Given the description of an element on the screen output the (x, y) to click on. 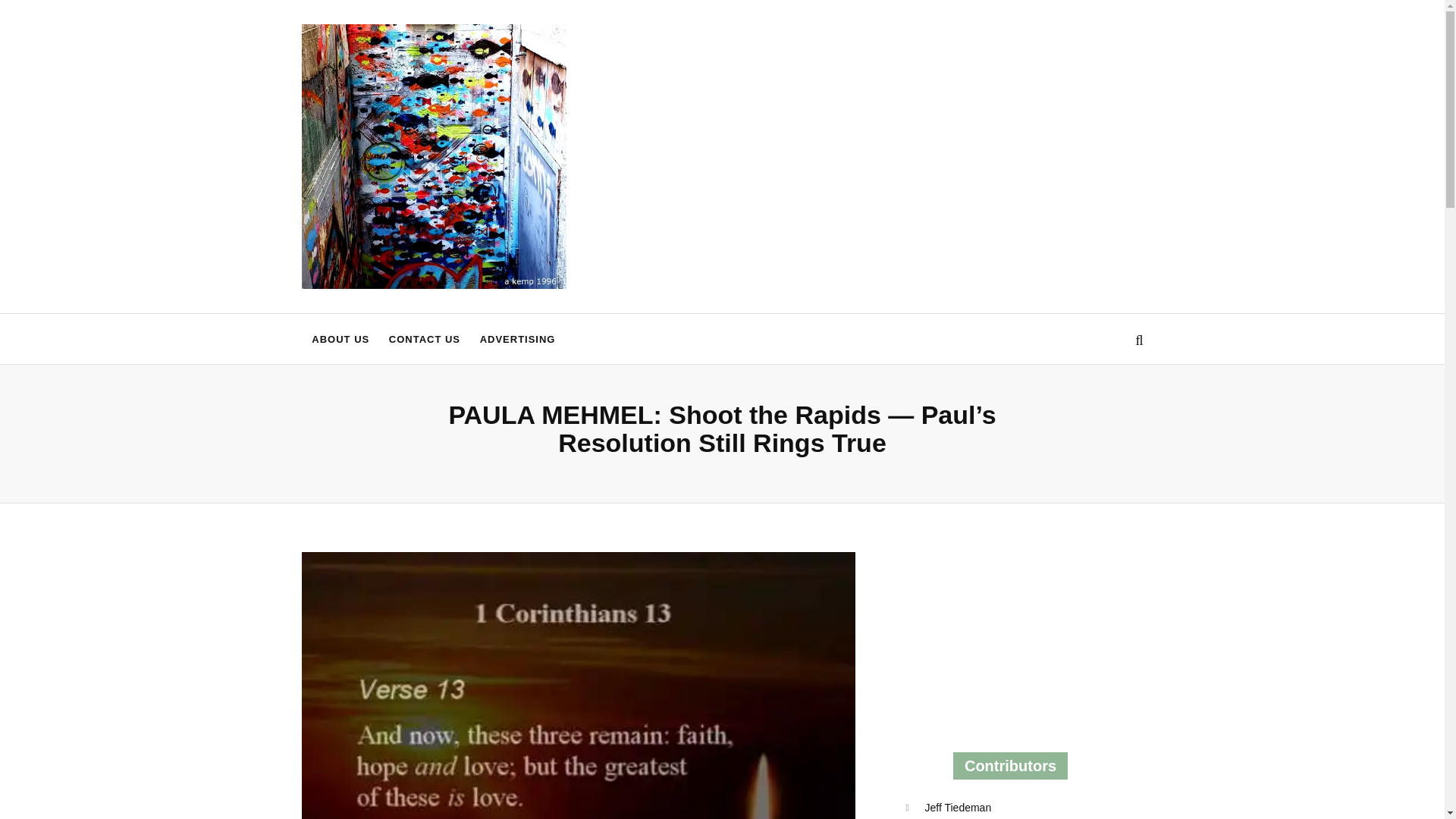
Advertising (517, 338)
Contact us (424, 338)
ADVERTISING (517, 338)
ABOUT US (339, 338)
About us (339, 338)
CONTACT US (424, 338)
